Given the description of an element on the screen output the (x, y) to click on. 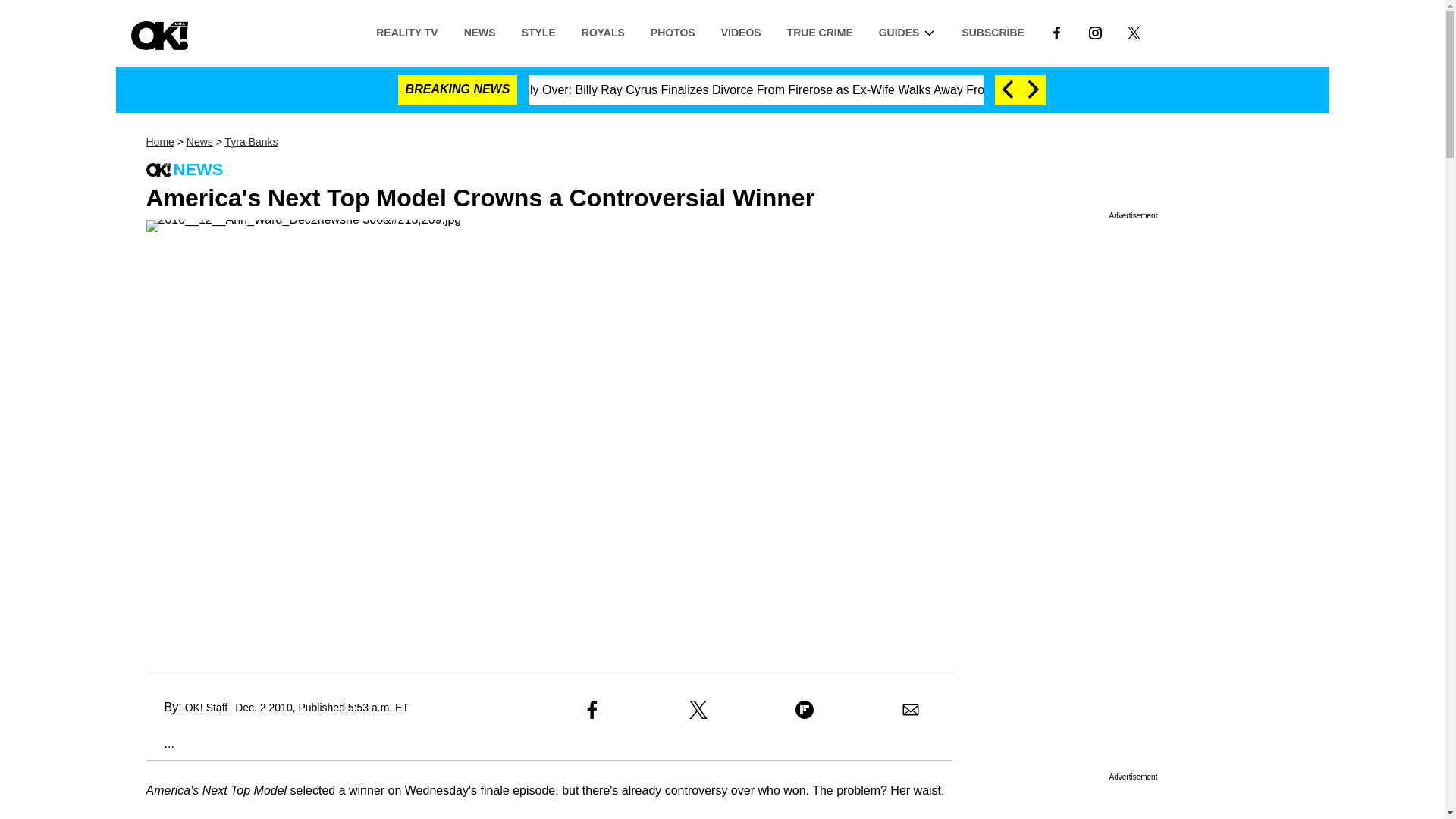
LINK TO FACEBOOK (1055, 32)
Share to Flipboard (803, 710)
Tyra Banks (251, 141)
Link to Facebook (1055, 31)
VIDEOS (740, 31)
NEWS (479, 31)
LINK TO INSTAGRAM (1095, 32)
LINK TO INSTAGRAM (1095, 31)
... (159, 743)
